Given the description of an element on the screen output the (x, y) to click on. 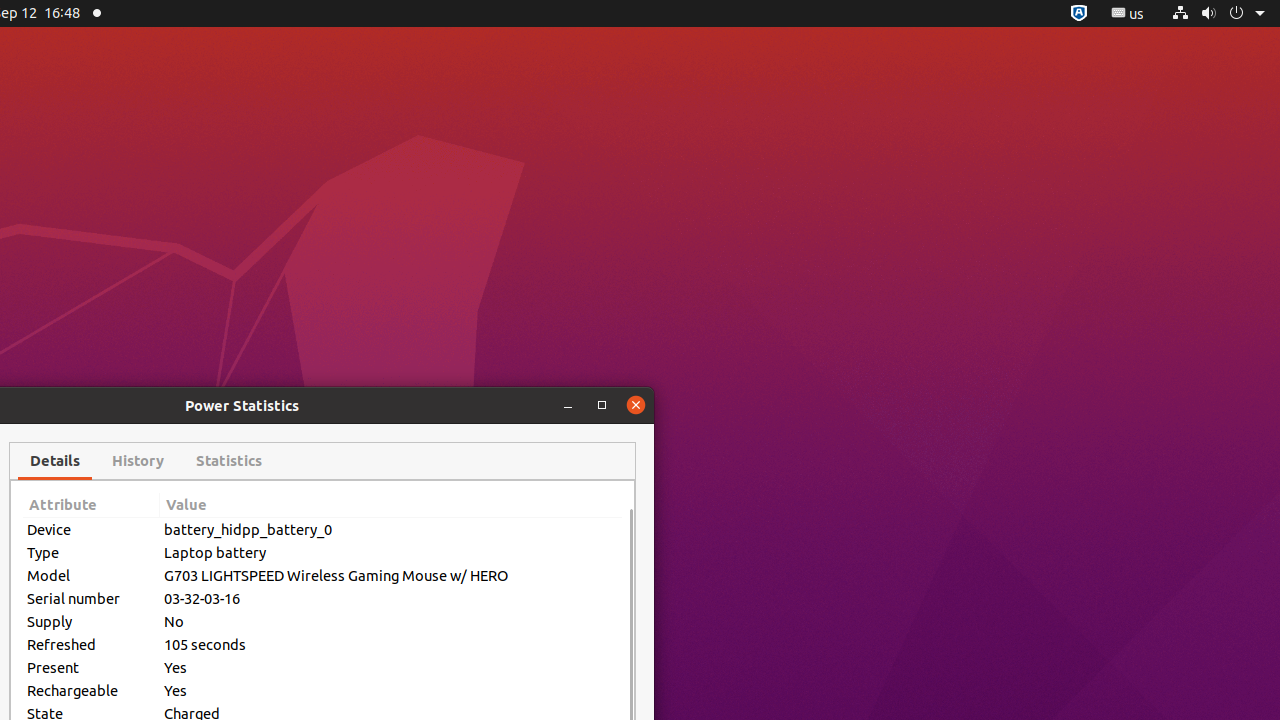
Attribute Element type: table-column-header (91, 505)
03-32-03-16 Element type: table-cell (391, 598)
Device Element type: table-cell (91, 529)
